Given the description of an element on the screen output the (x, y) to click on. 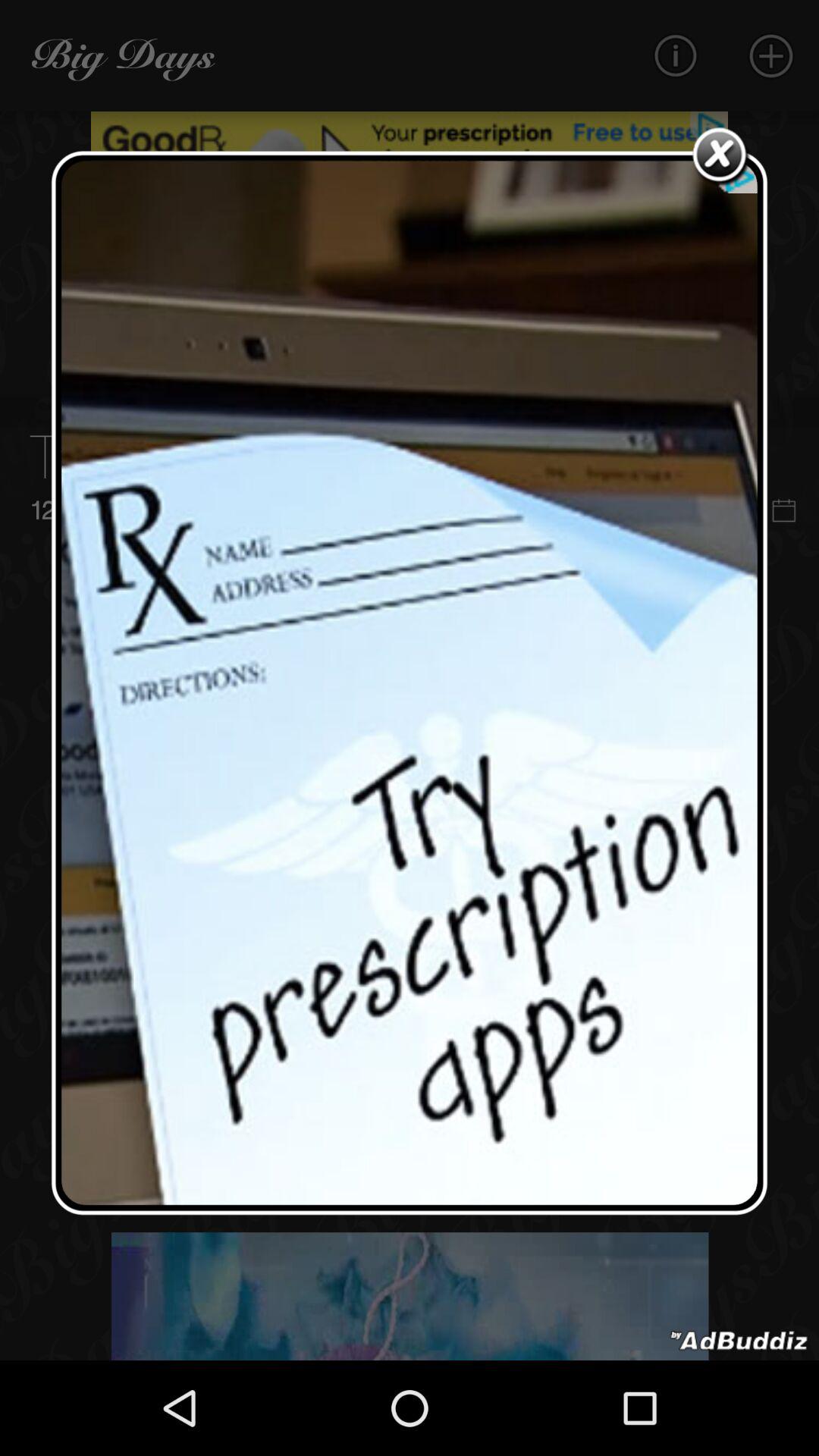
click on advertisements (409, 682)
